Given the description of an element on the screen output the (x, y) to click on. 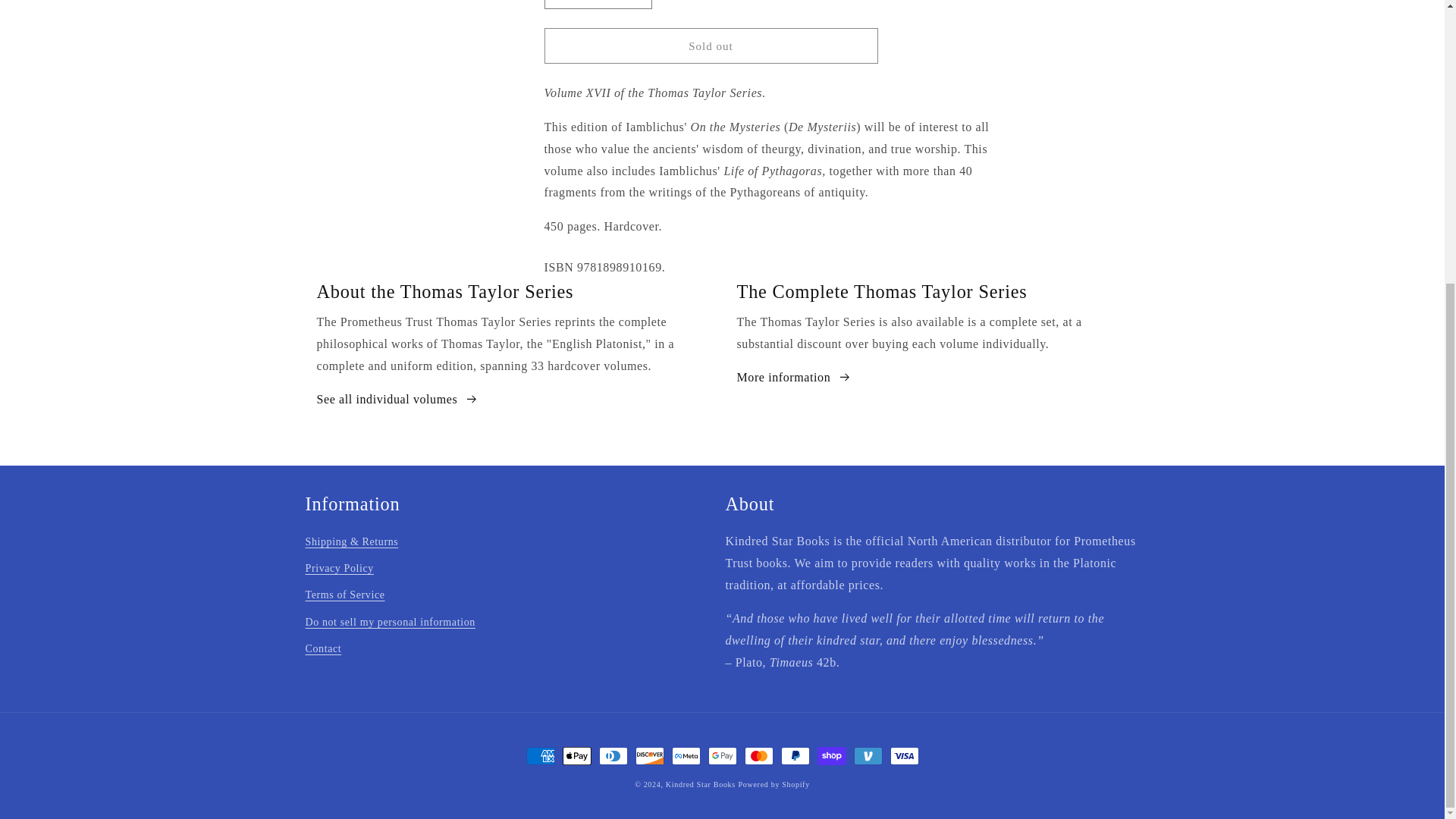
1 (598, 4)
Privacy Policy (338, 568)
More information  (793, 377)
Terms of Service (344, 594)
See all individual volumes  (398, 400)
Sold out (710, 45)
